Given the description of an element on the screen output the (x, y) to click on. 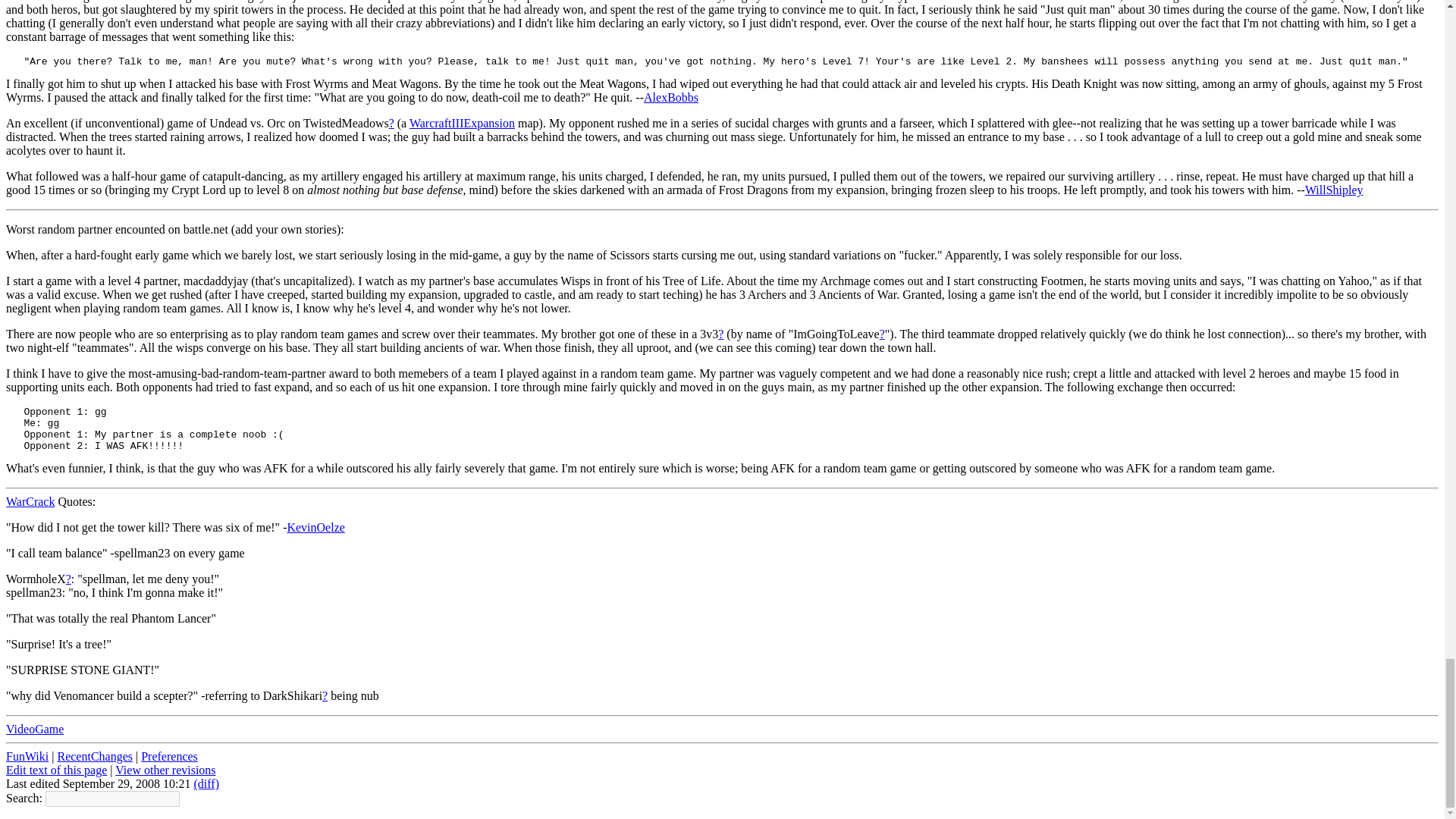
AlexBobbs (670, 97)
